Given the description of an element on the screen output the (x, y) to click on. 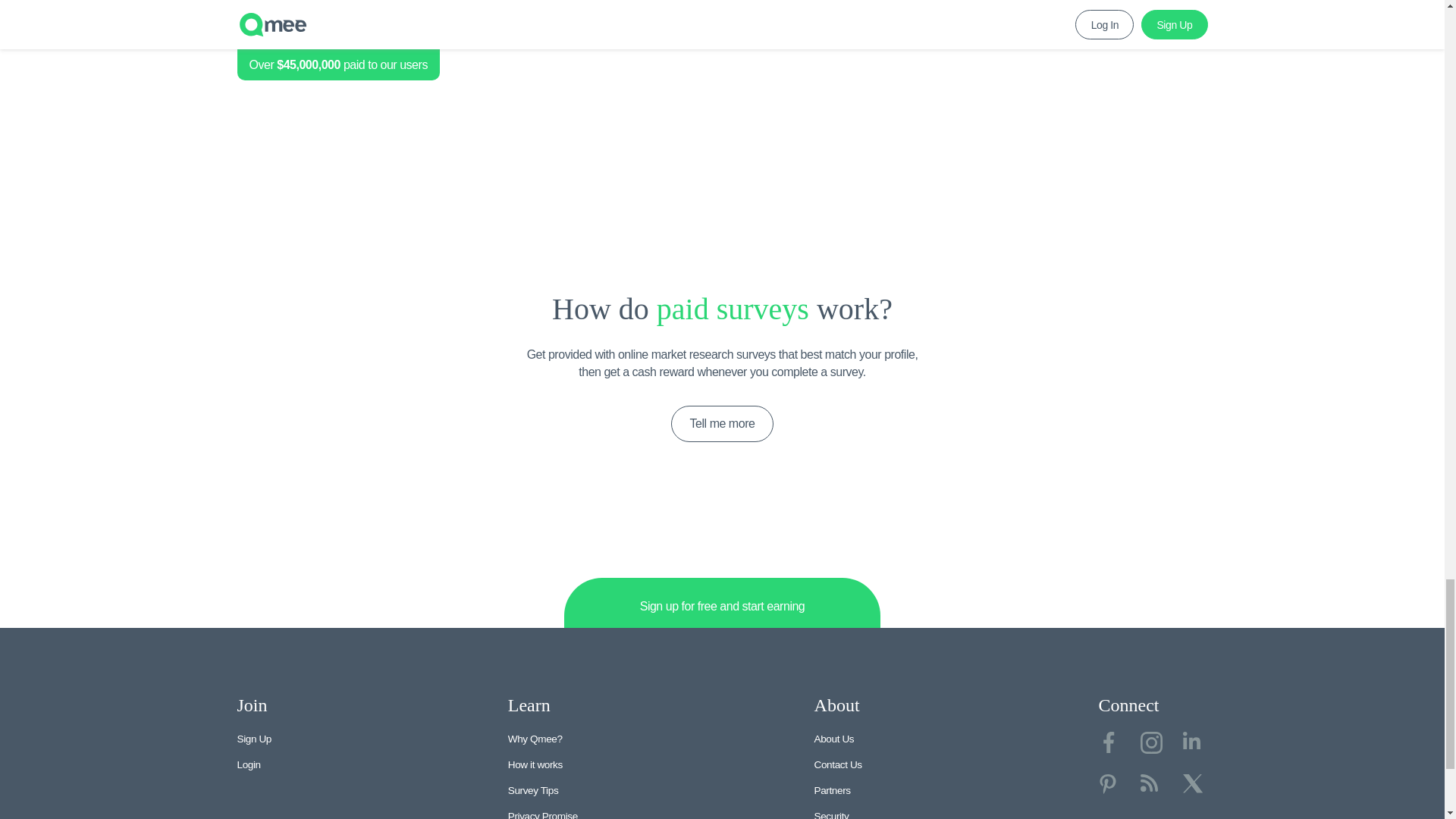
About Us (833, 738)
Tell me more (722, 423)
Why Qmee? (535, 738)
Login (247, 764)
Privacy Promise (543, 814)
Show me cashback deals (319, 36)
Partners (831, 790)
Sign up for free and start earning (722, 604)
Sign Up (252, 738)
Contact Us (837, 764)
Survey Tips (533, 790)
How it works (535, 764)
